Given the description of an element on the screen output the (x, y) to click on. 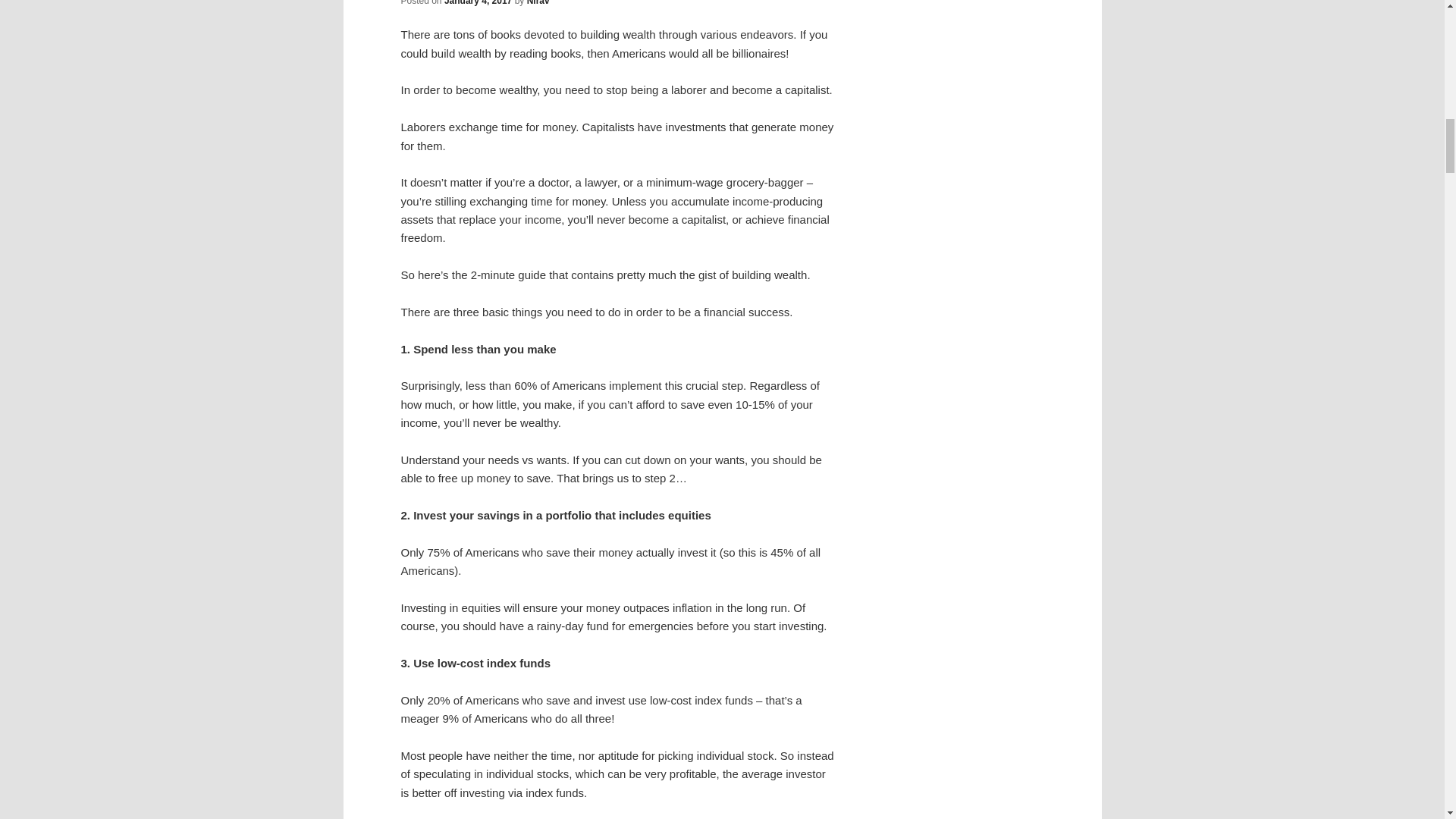
View all posts by Nirav (538, 2)
Nirav (538, 2)
January 4, 2017 (478, 2)
